Given the description of an element on the screen output the (x, y) to click on. 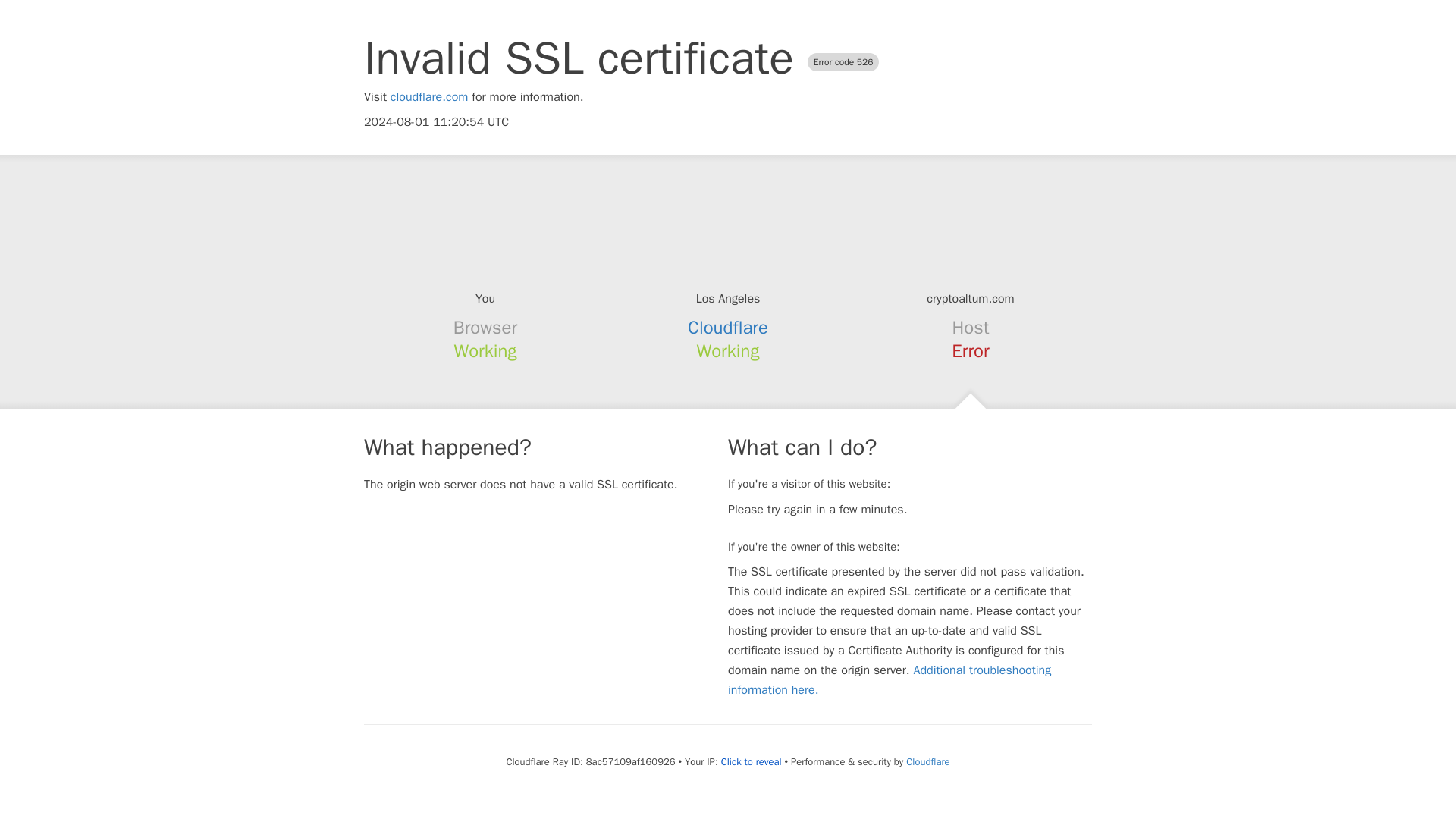
Additional troubleshooting information here. (889, 679)
Cloudflare (927, 761)
cloudflare.com (429, 96)
Click to reveal (750, 762)
Cloudflare (727, 327)
